Given the description of an element on the screen output the (x, y) to click on. 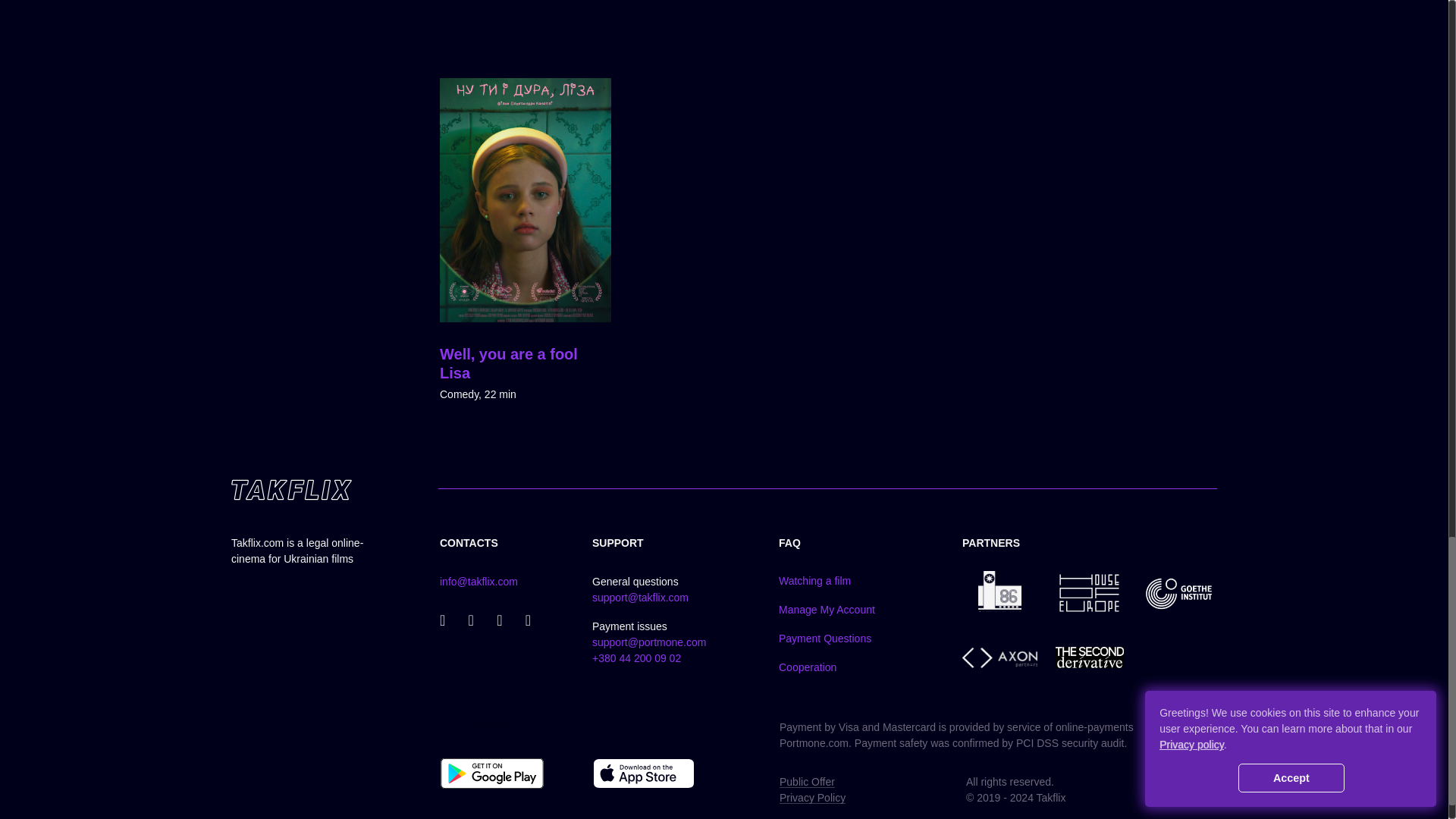
Well, you are a fool Lisa (508, 363)
Manage My Account (826, 609)
Watching a film (814, 580)
